Given the description of an element on the screen output the (x, y) to click on. 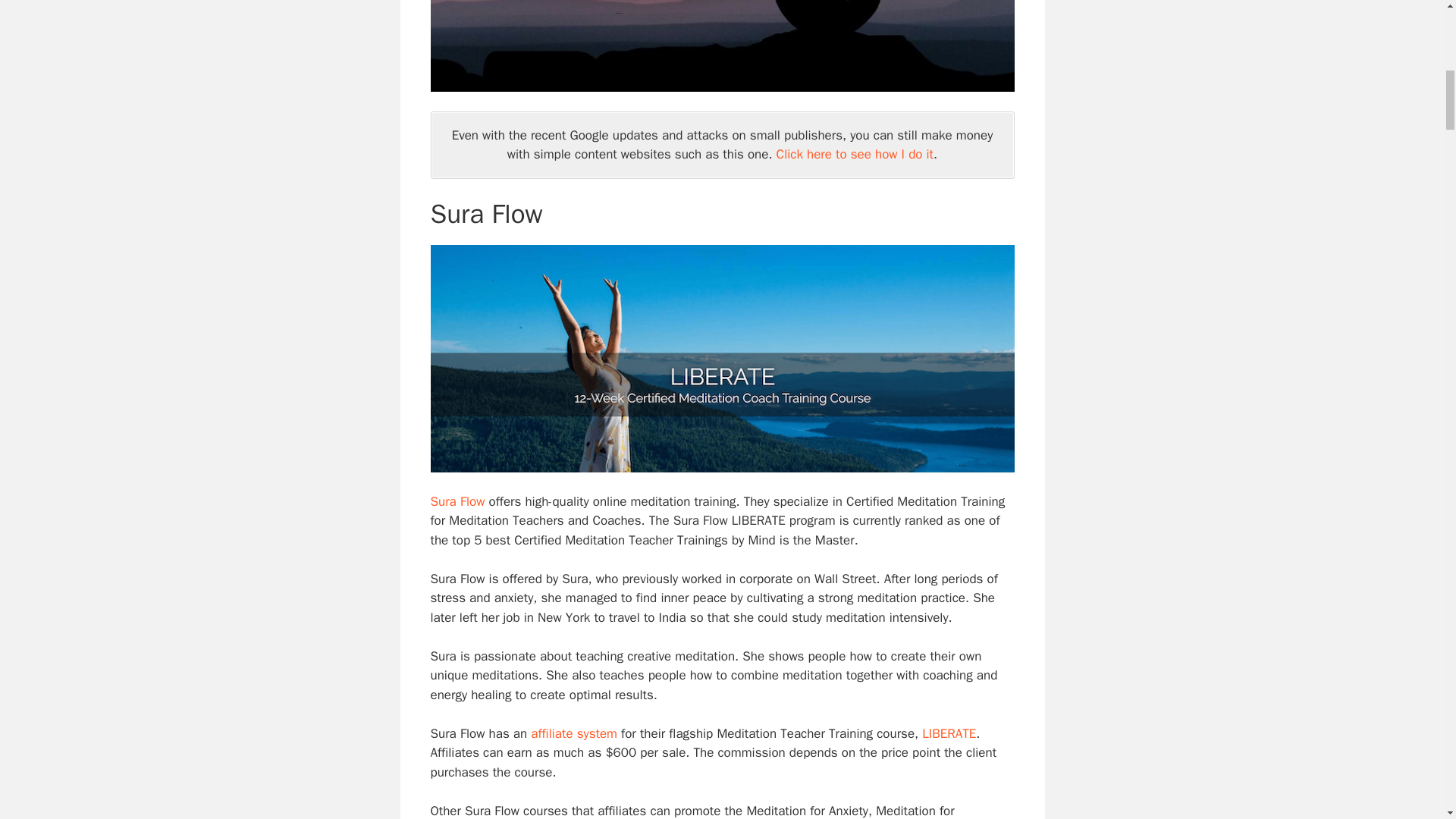
Click here to see how I do it (854, 154)
Sura Flow (457, 501)
affiliate system (574, 733)
LIBERATE (948, 733)
